Given the description of an element on the screen output the (x, y) to click on. 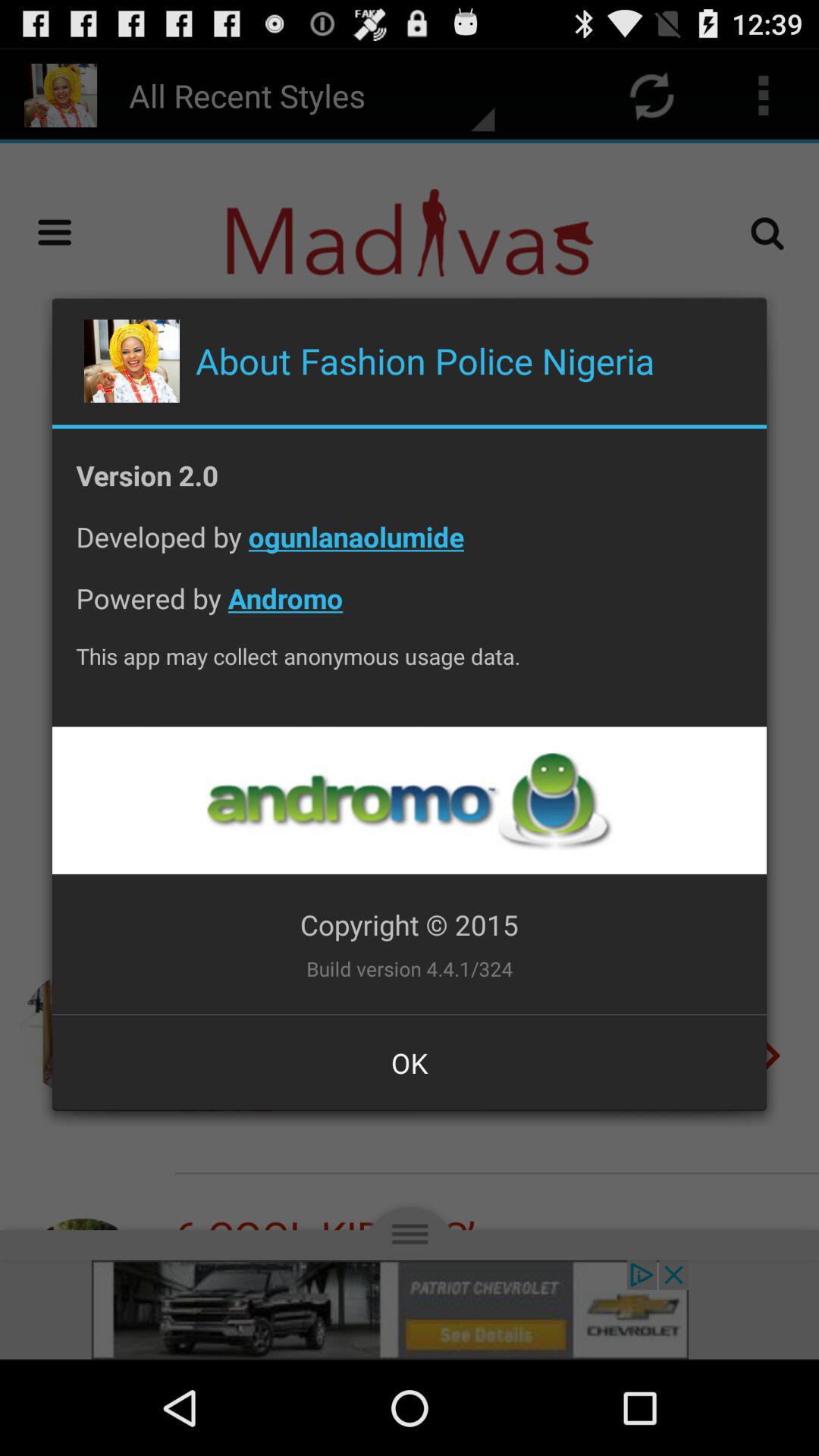
launch the ok item (409, 1062)
